Given the description of an element on the screen output the (x, y) to click on. 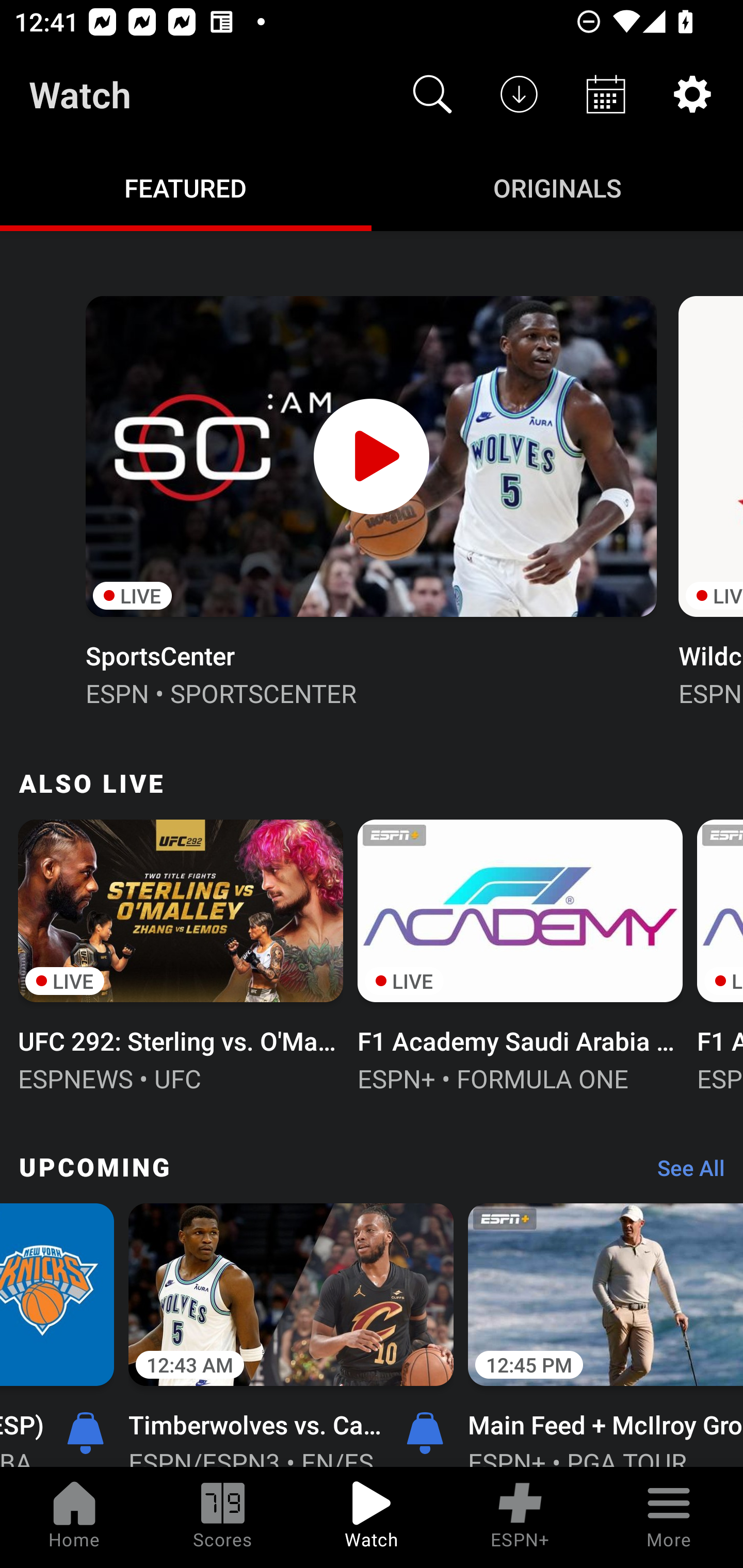
Search (432, 93)
Downloads (518, 93)
Schedule (605, 93)
Settings (692, 93)
Originals ORIGINALS (557, 187)
 LIVE SportsCenter ESPN • SPORTSCENTER (370, 499)
LIVE UFC 292: Sterling vs. O'Malley ESPNEWS • UFC (180, 954)
See All (683, 1172)
Home (74, 1517)
Scores (222, 1517)
ESPN+ (519, 1517)
More (668, 1517)
